Given the description of an element on the screen output the (x, y) to click on. 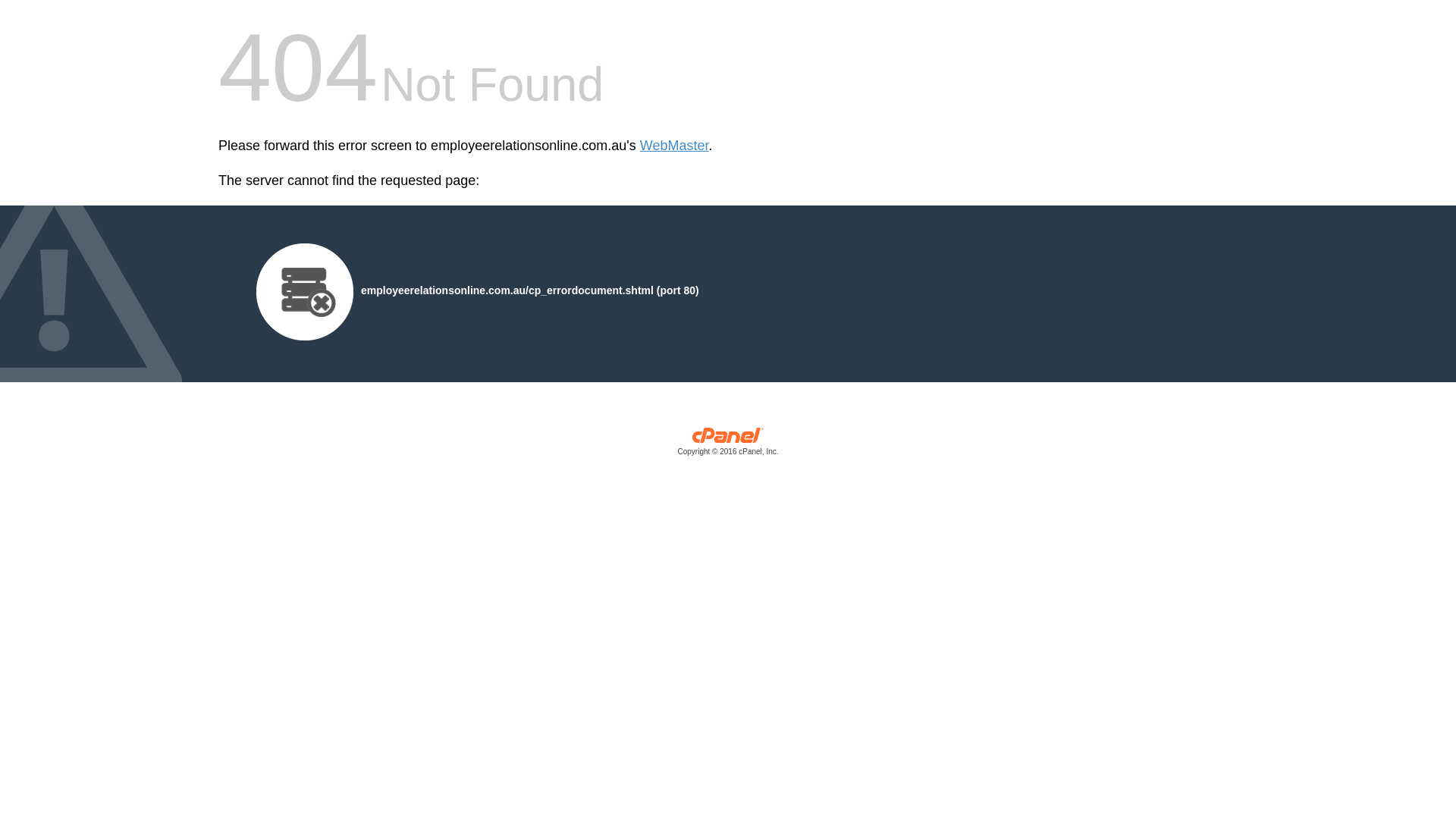
WebMaster Element type: text (674, 145)
